Given the description of an element on the screen output the (x, y) to click on. 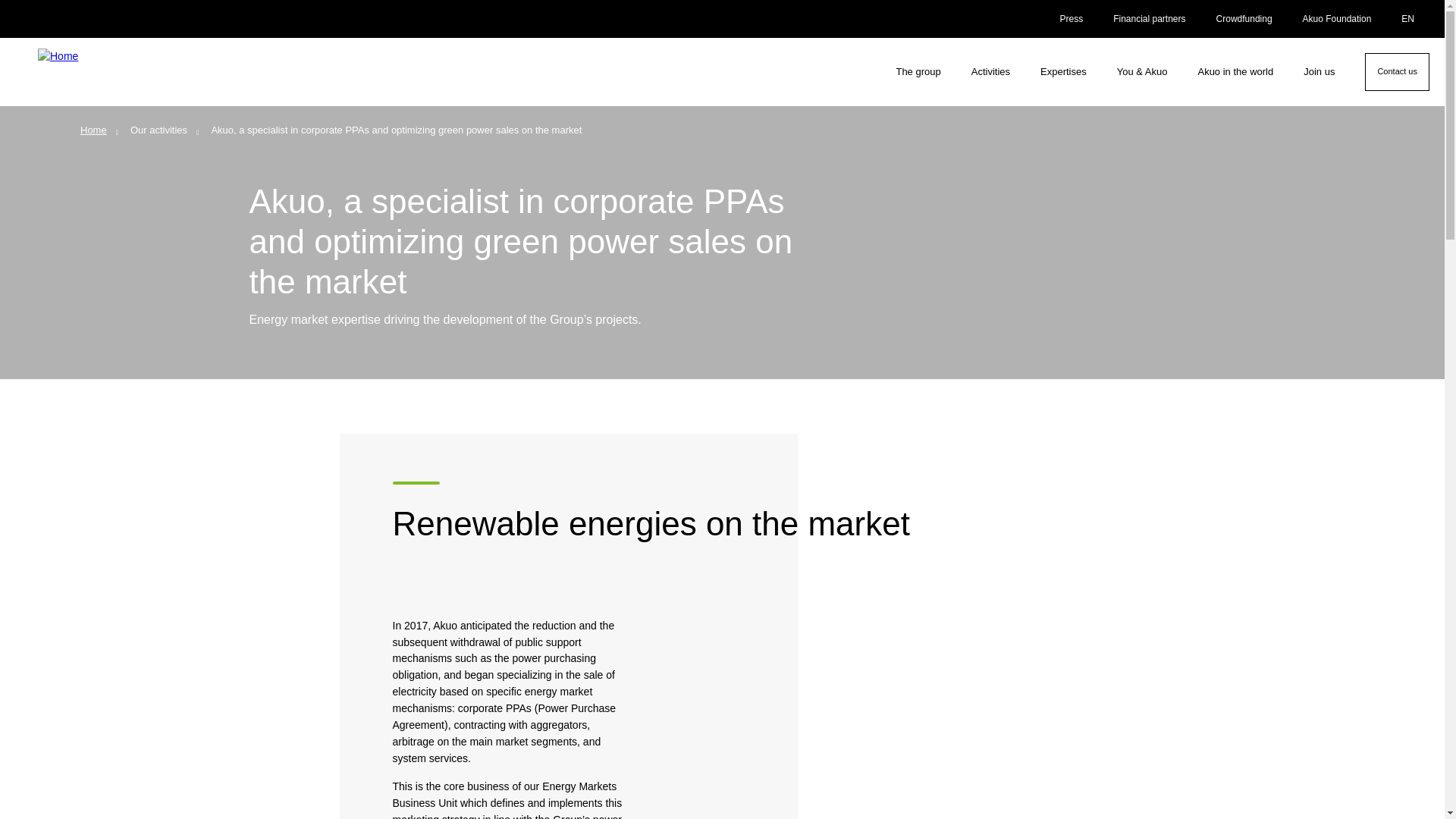
Akuo in the world (1235, 71)
Akuo Foundation (1337, 18)
Financial partners (1148, 18)
Activities (990, 71)
Crowdfunding (1244, 18)
Press (1070, 18)
Home (126, 71)
